Given the description of an element on the screen output the (x, y) to click on. 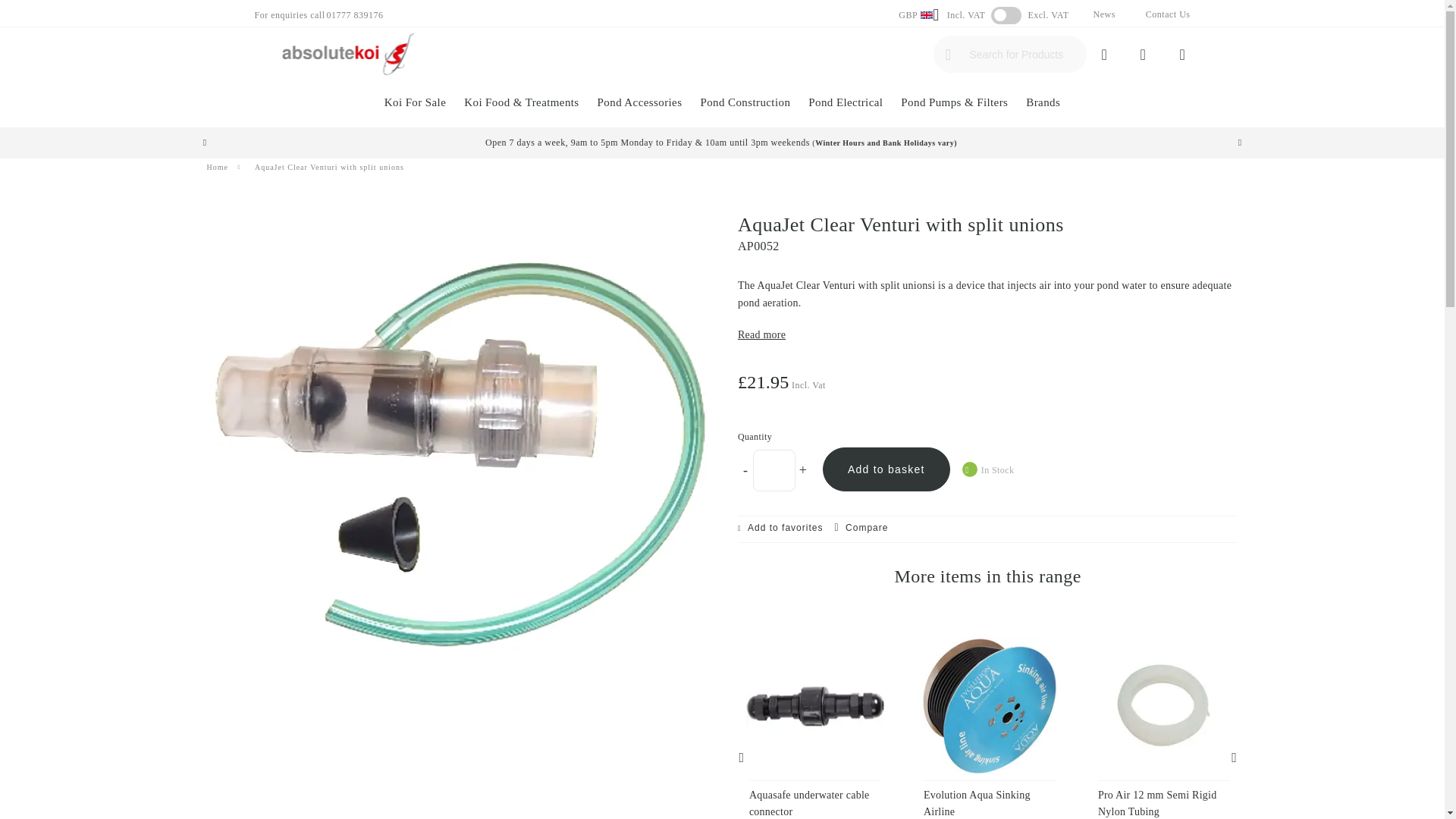
Koi For Sale (414, 104)
Absolute Koi (349, 53)
01777 839176 (354, 14)
Contact Us (1168, 14)
Search (947, 54)
Koi For Sale (414, 104)
News (1104, 14)
